Given the description of an element on the screen output the (x, y) to click on. 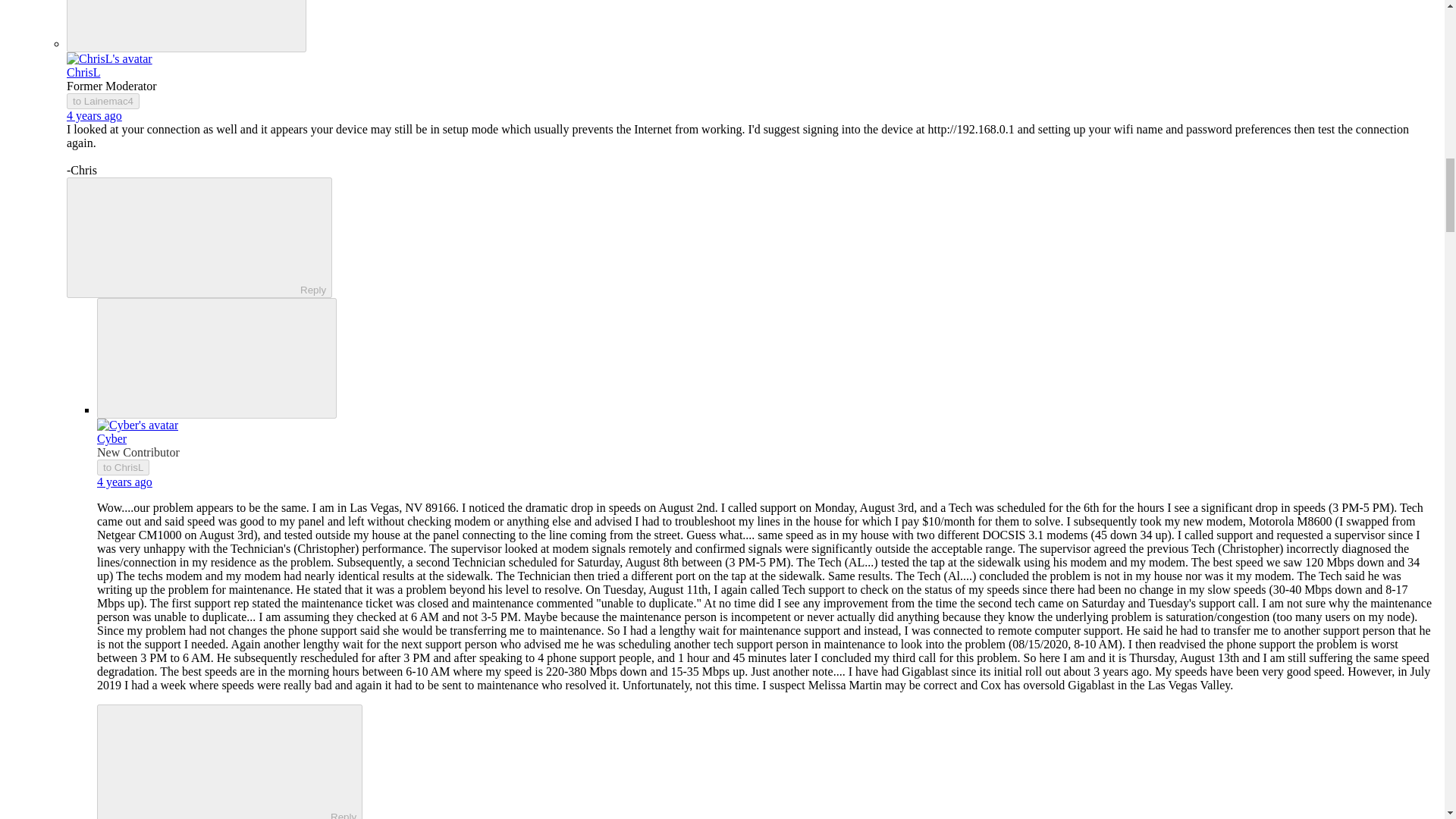
Reply (185, 236)
August 3, 2020 at 5:52 PM (94, 115)
Reply (216, 762)
August 13, 2020 at 9:00 PM (124, 481)
